Given the description of an element on the screen output the (x, y) to click on. 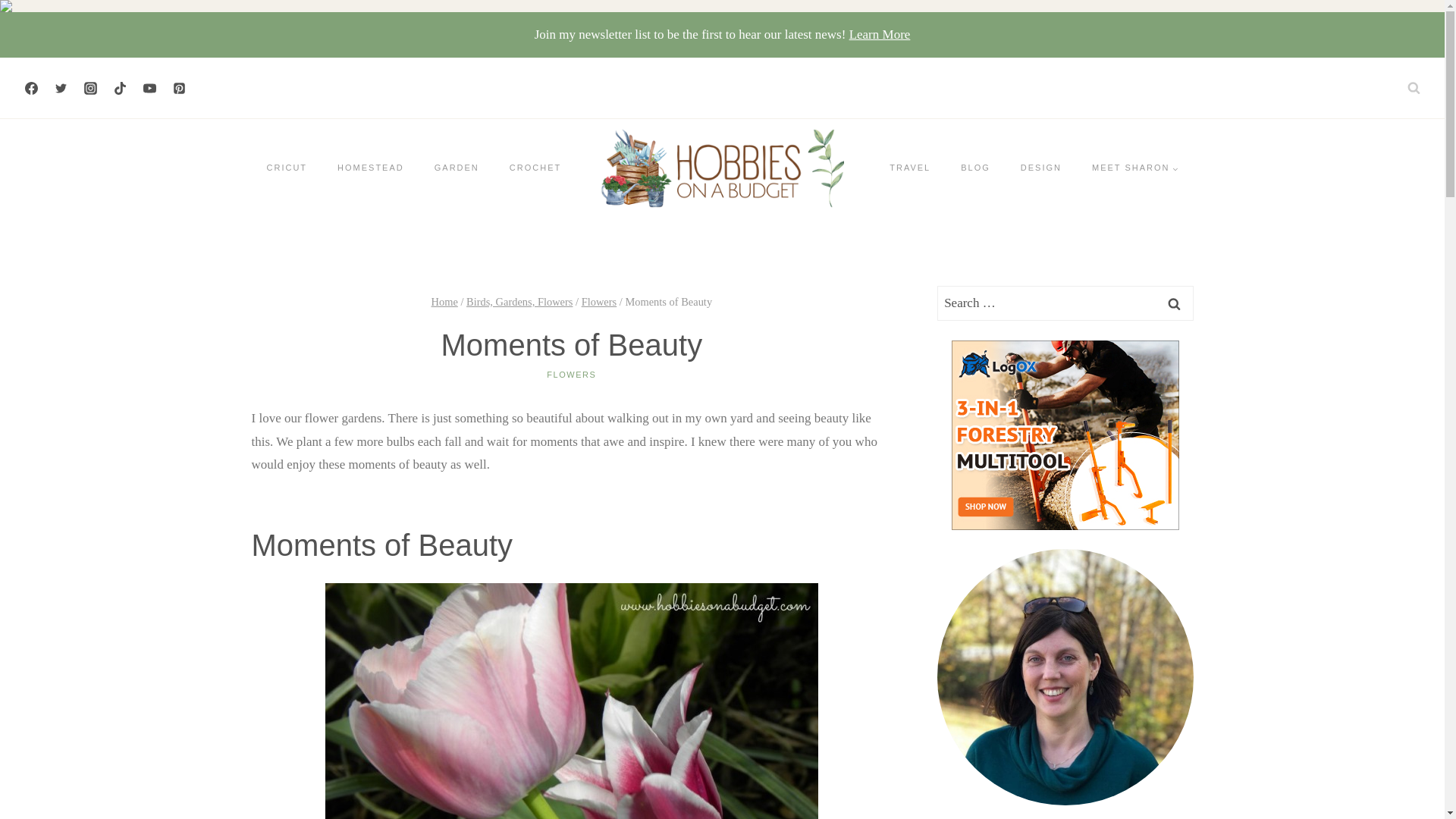
Birds, Gardens, Flowers (518, 301)
FLOWERS (571, 374)
Search (1174, 303)
DESIGN (1041, 168)
BLOG (975, 168)
MEET SHARON (1134, 168)
TRAVEL (909, 168)
CROCHET (535, 168)
CRICUT (287, 168)
Home (444, 301)
Search (1174, 303)
GARDEN (457, 168)
Flowers (598, 301)
Learn More (879, 34)
HOMESTEAD (370, 168)
